Given the description of an element on the screen output the (x, y) to click on. 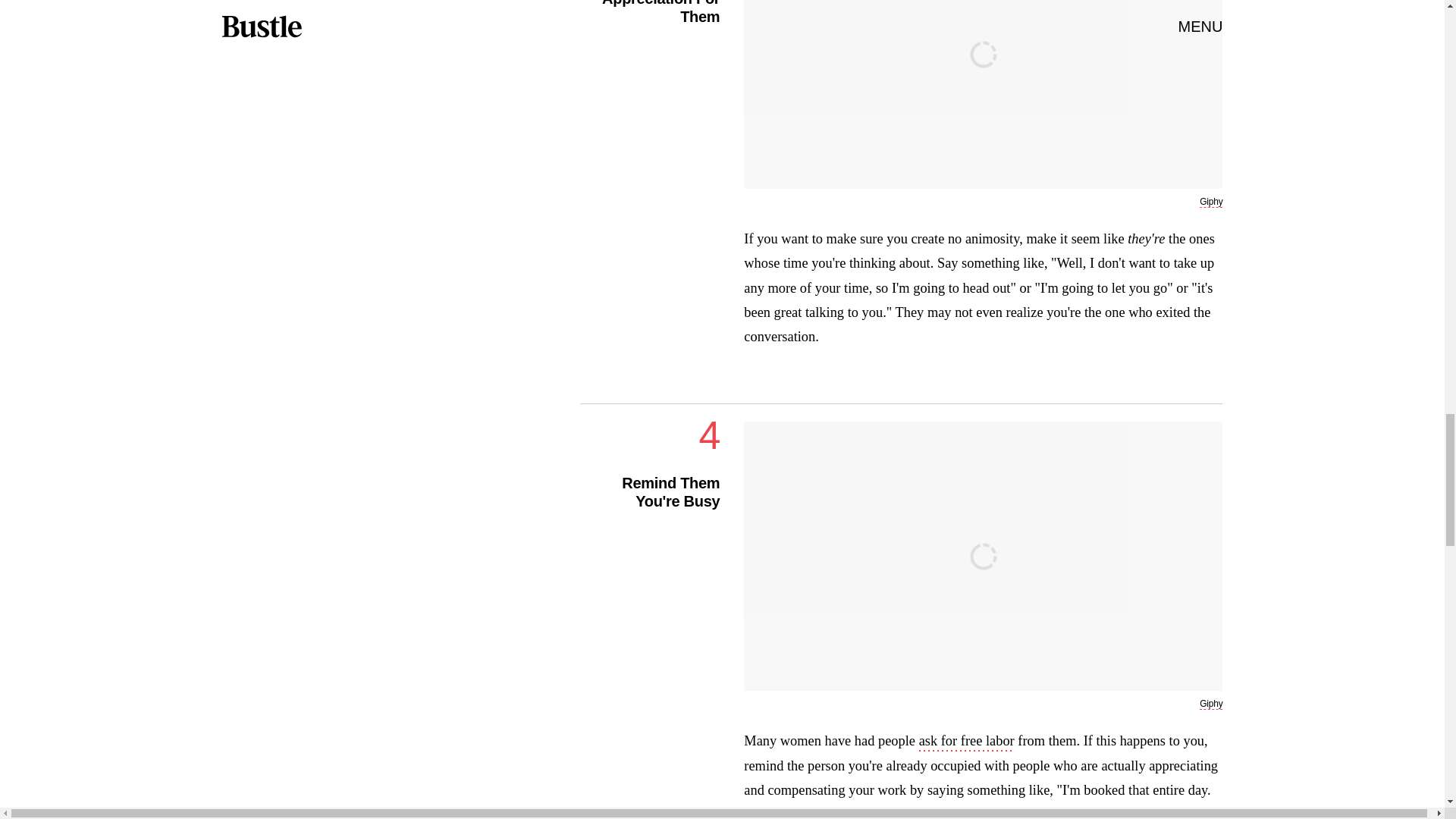
Giphy (1211, 202)
ask for free labor (966, 742)
Giphy (1211, 704)
